Given the description of an element on the screen output the (x, y) to click on. 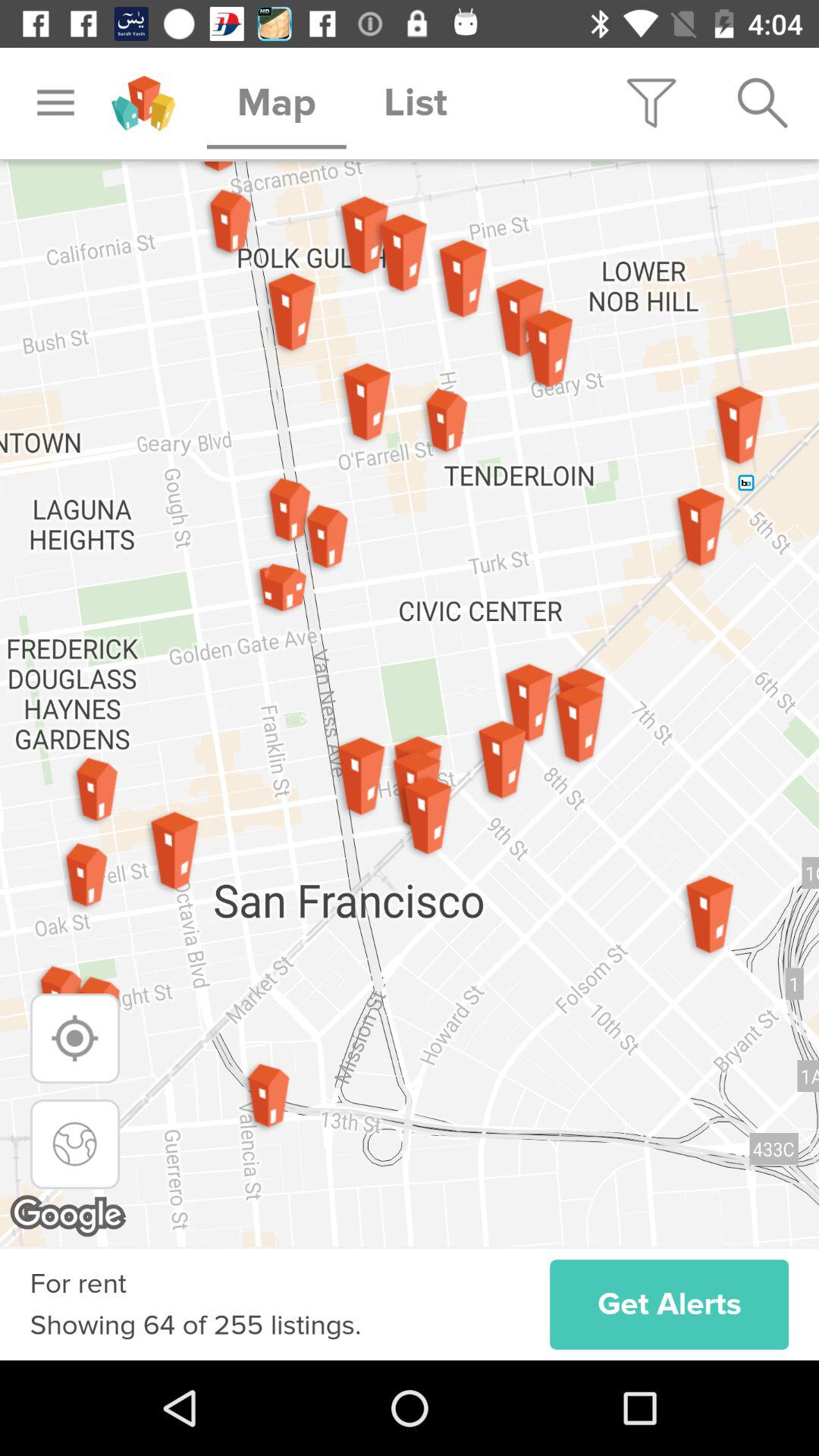
open the get alerts item (668, 1304)
